Given the description of an element on the screen output the (x, y) to click on. 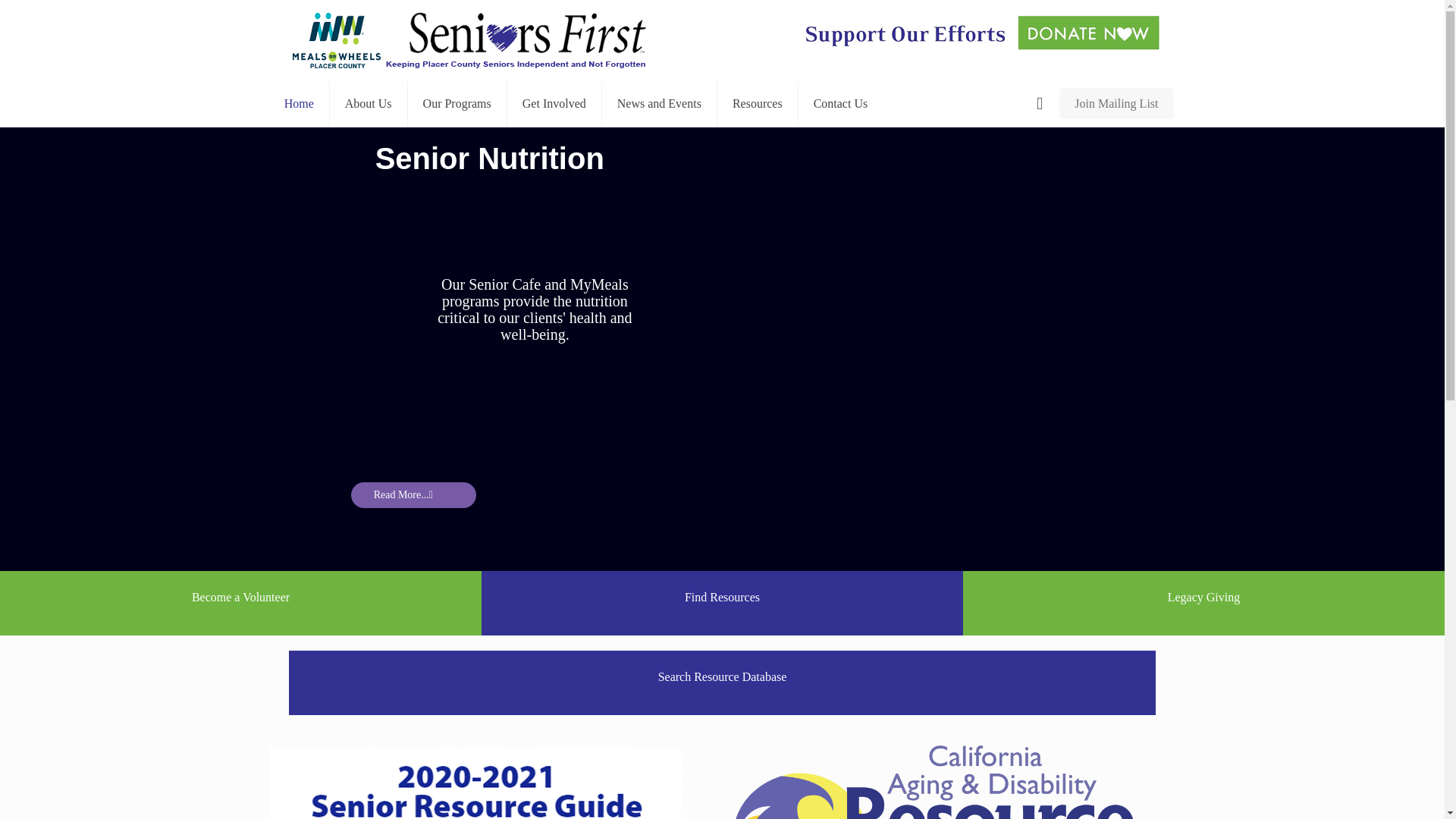
Home (299, 103)
Seniors First (469, 40)
Find Resources (721, 602)
About Us (368, 103)
Contact Us (840, 103)
Legacy Giving (1202, 602)
Search Resource Database (721, 682)
Become a Volunteer (240, 602)
Our Programs (456, 103)
Join Mailing List (1116, 102)
Get Involved (554, 103)
Resources (757, 103)
News and Events (659, 103)
